Given the description of an element on the screen output the (x, y) to click on. 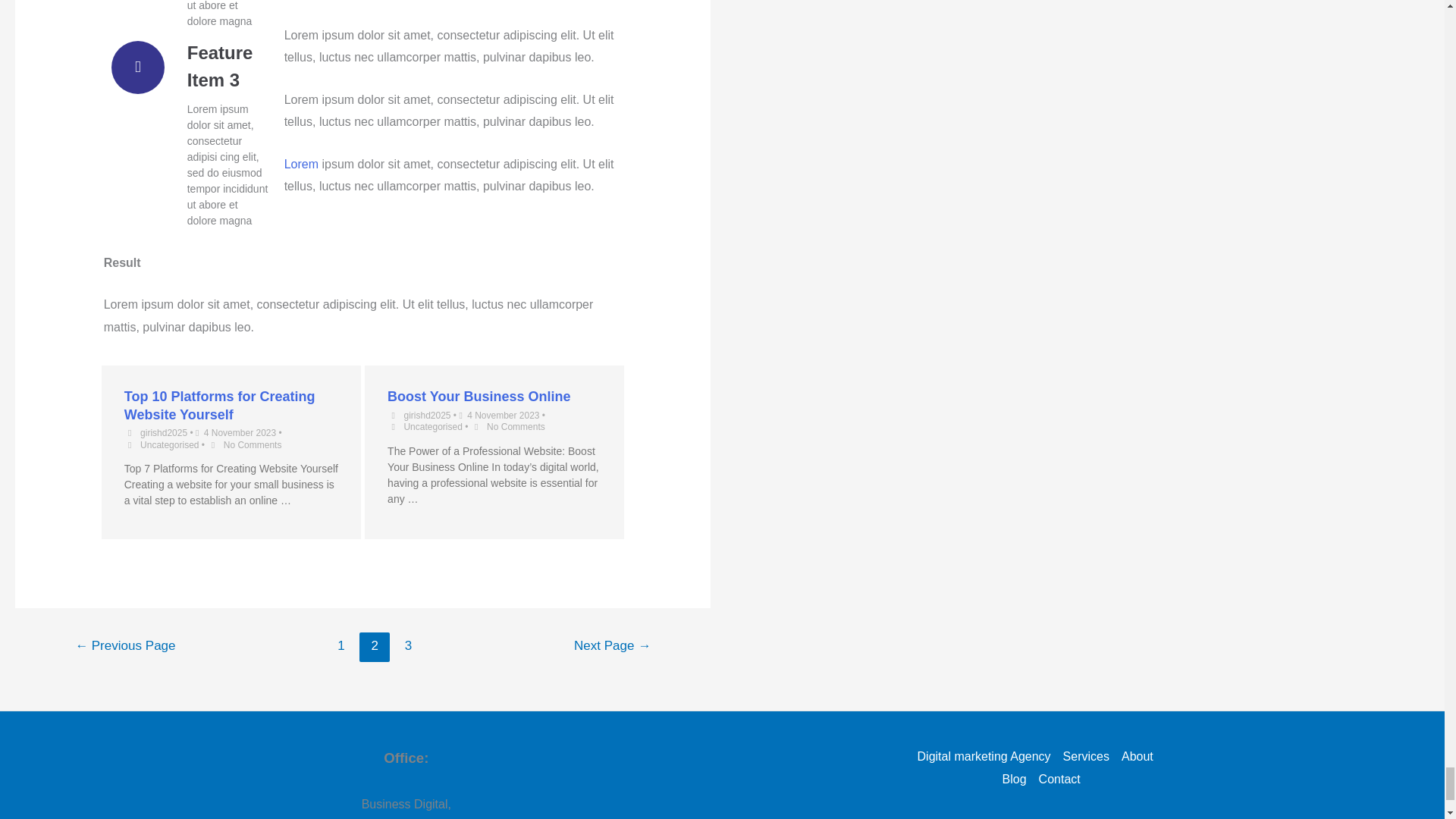
Lorem (300, 164)
Posts by girishd2025 (163, 432)
Posts by girishd2025 (426, 415)
